Given the description of an element on the screen output the (x, y) to click on. 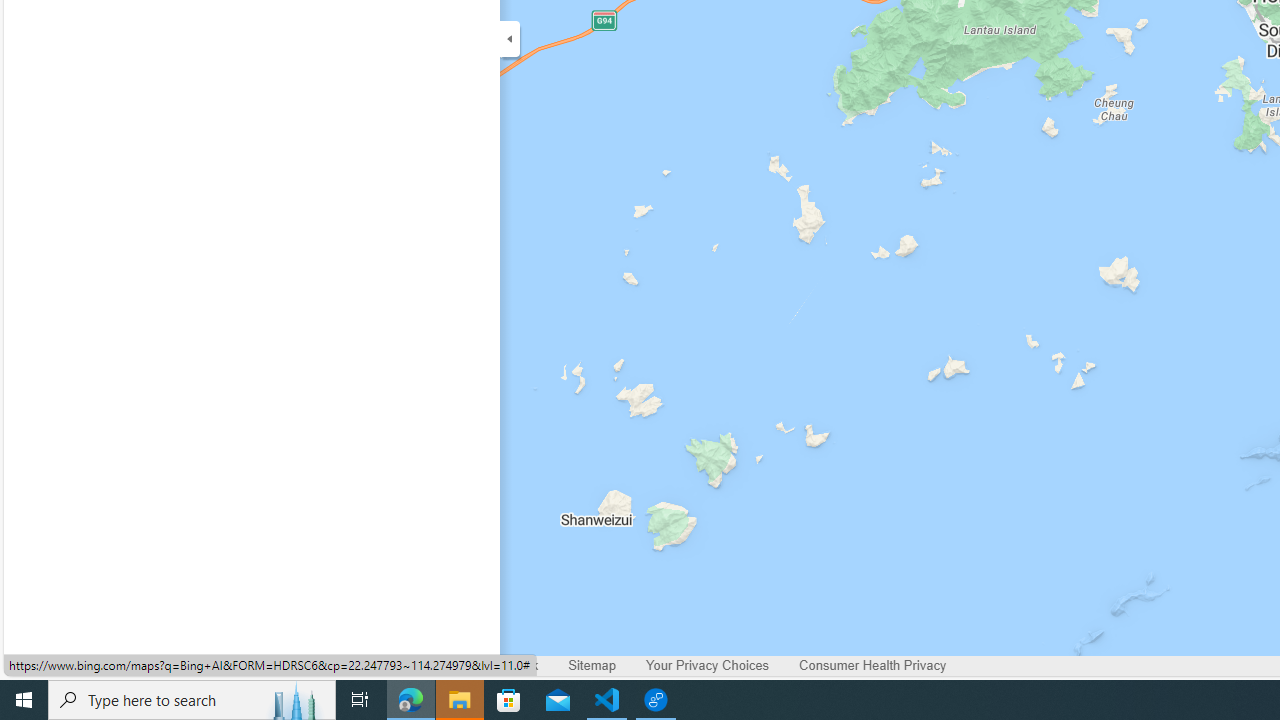
About our ads (354, 665)
Help (437, 665)
Expand/Collapse Cards (509, 38)
Your Privacy Choices (707, 665)
Privacy and Cookies (78, 665)
Consumer Health Privacy (872, 665)
About our ads (353, 665)
Your Privacy Choices (708, 665)
Advertise (256, 665)
Legal (183, 665)
Help (438, 665)
Consumer Health Privacy (872, 665)
Sitemap (592, 665)
